Given the description of an element on the screen output the (x, y) to click on. 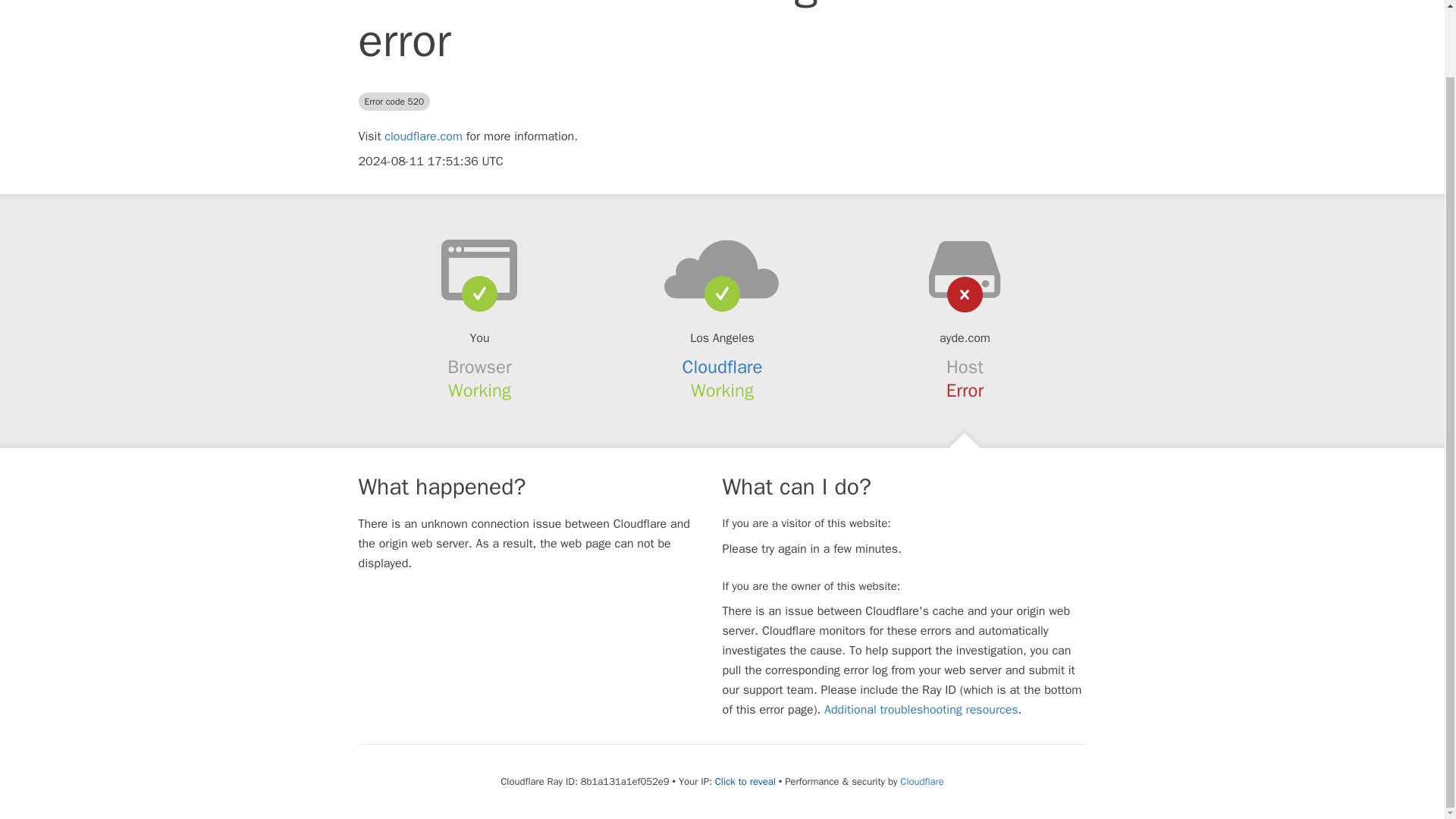
Click to reveal (745, 781)
cloudflare.com (423, 136)
Cloudflare (921, 780)
Cloudflare (722, 366)
Additional troubleshooting resources (920, 709)
